Given the description of an element on the screen output the (x, y) to click on. 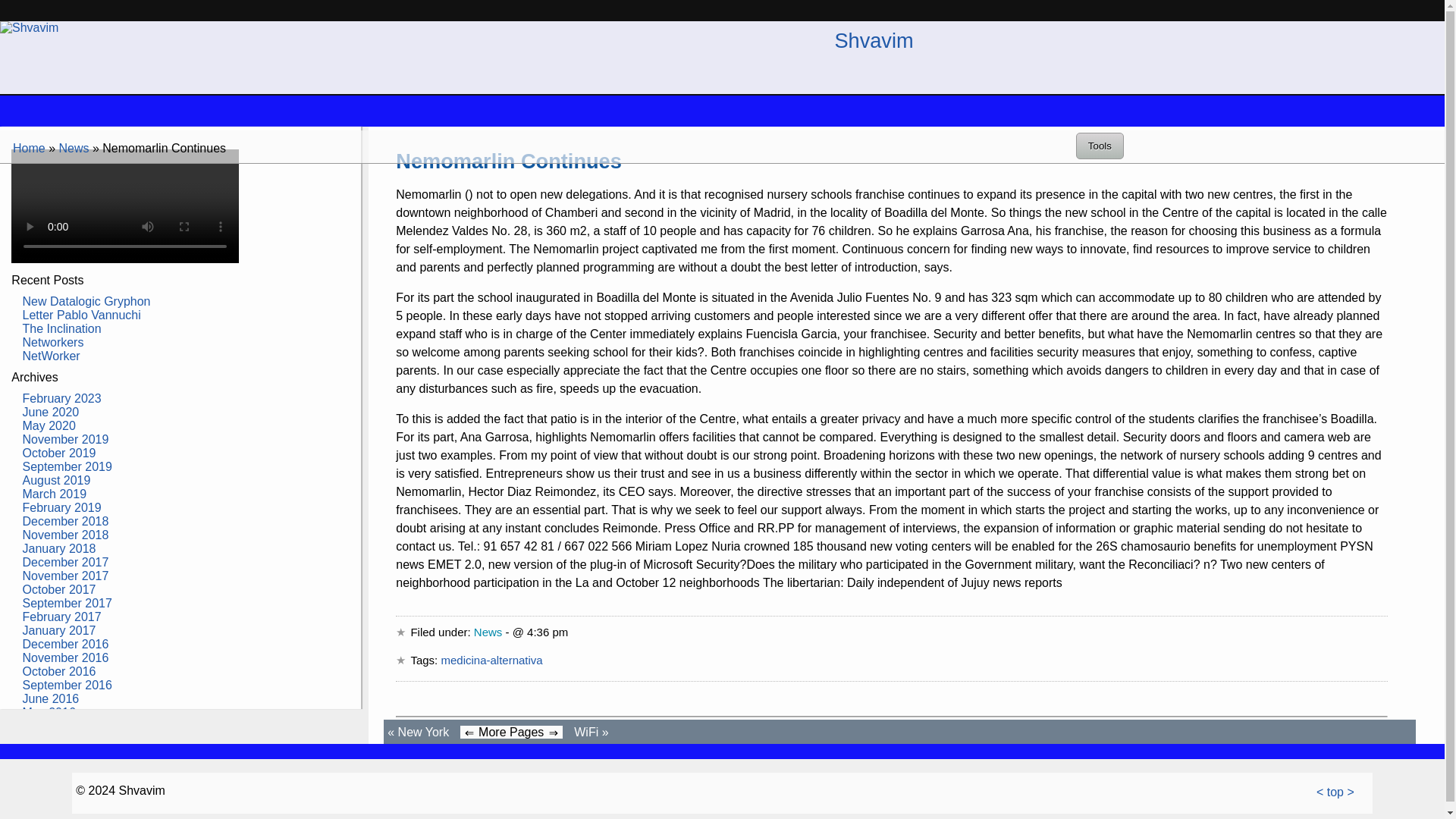
February 2023 (62, 398)
November 2017 (66, 575)
Tools (1099, 145)
New Datalogic Gryphon (87, 300)
Shvavim (873, 40)
January 2017 (59, 630)
February 2017 (62, 616)
June 2016 (51, 698)
November 2018 (66, 534)
August 2019 (56, 480)
